Given the description of an element on the screen output the (x, y) to click on. 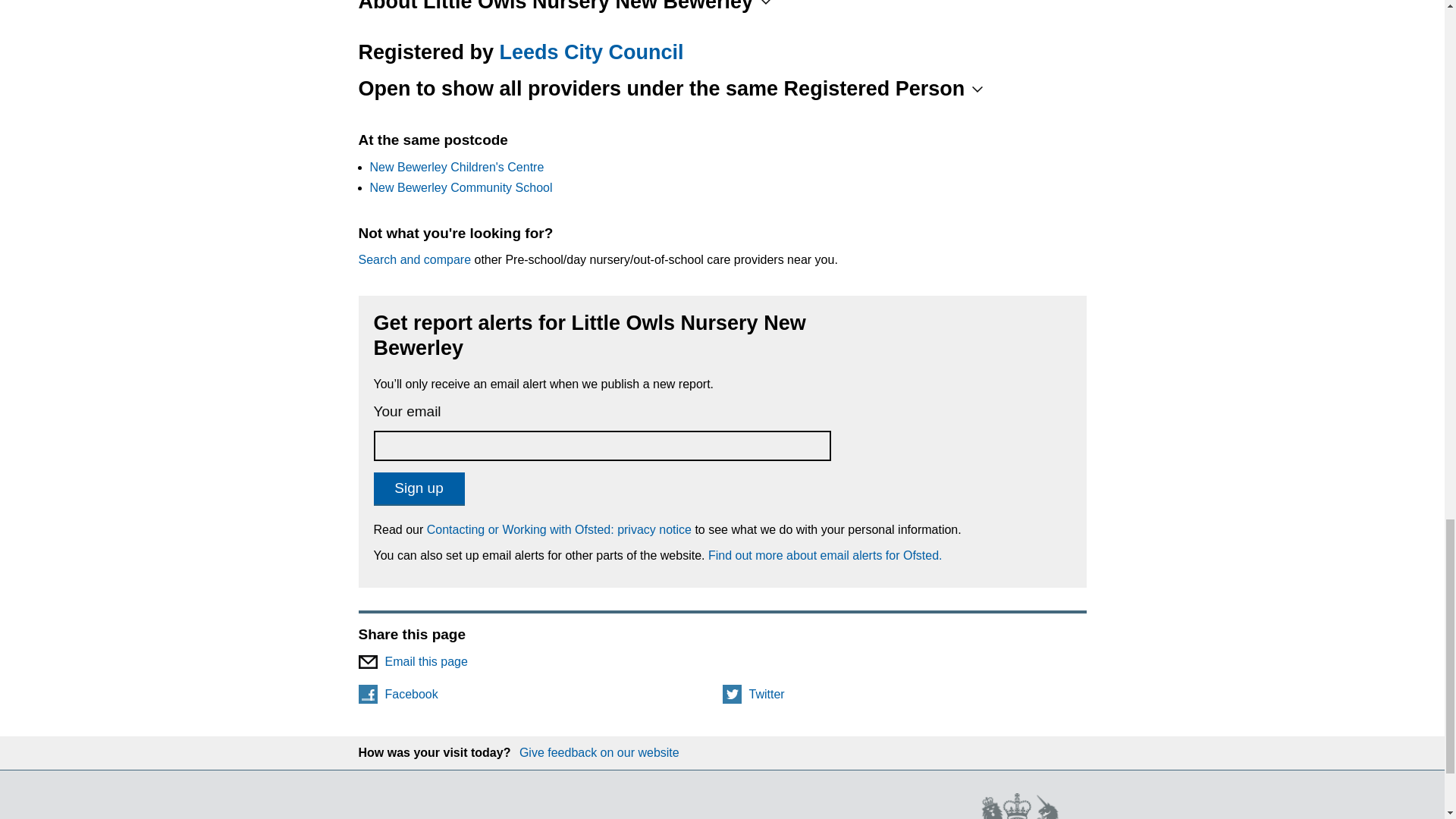
Leeds City Council (591, 51)
